Given the description of an element on the screen output the (x, y) to click on. 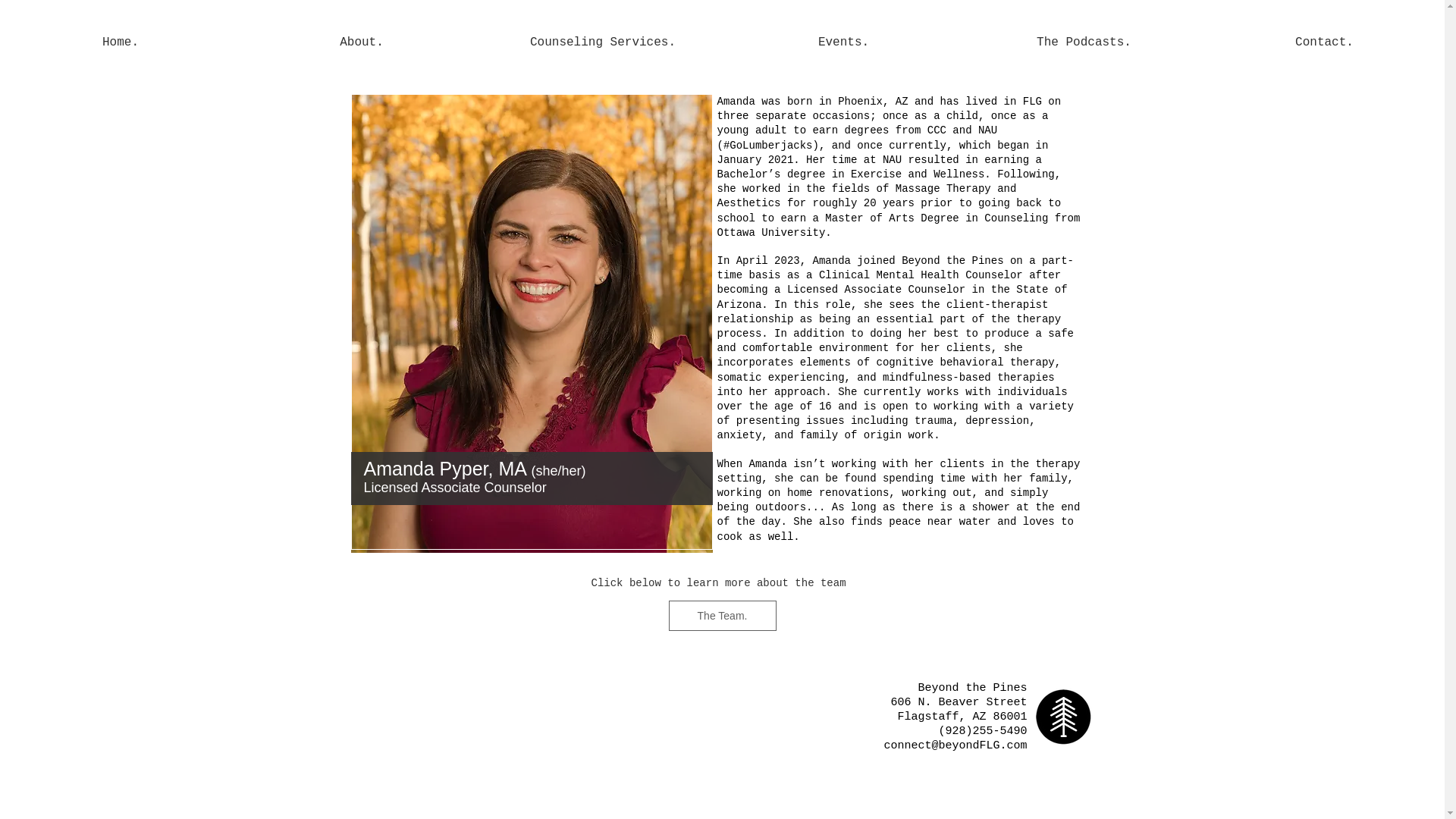
Events. (843, 42)
About. (361, 42)
Home. (120, 42)
The Team. (722, 615)
